Given the description of an element on the screen output the (x, y) to click on. 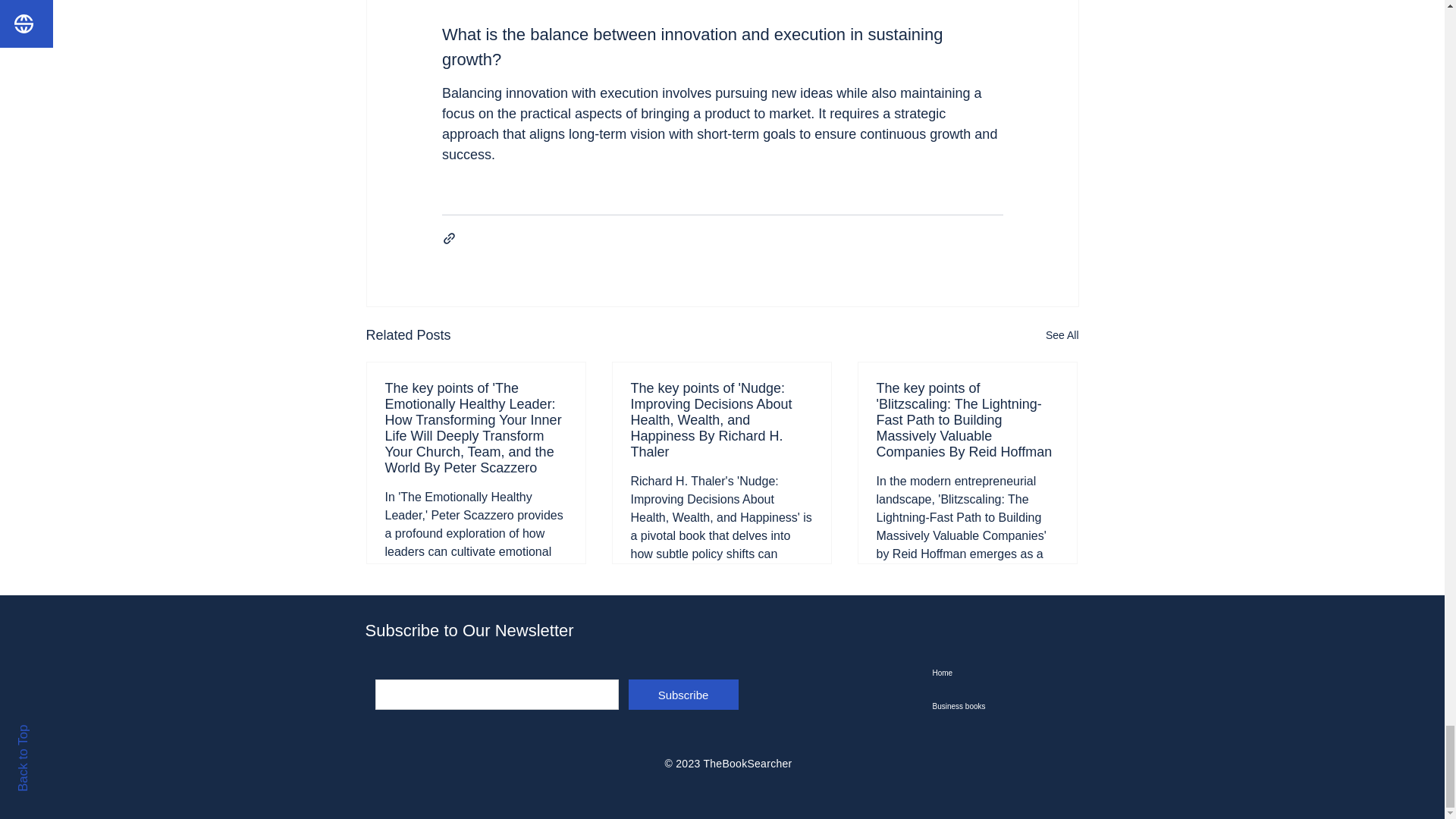
Subscribe (682, 694)
Home (1009, 673)
Business books (1009, 706)
See All (1061, 335)
